Given the description of an element on the screen output the (x, y) to click on. 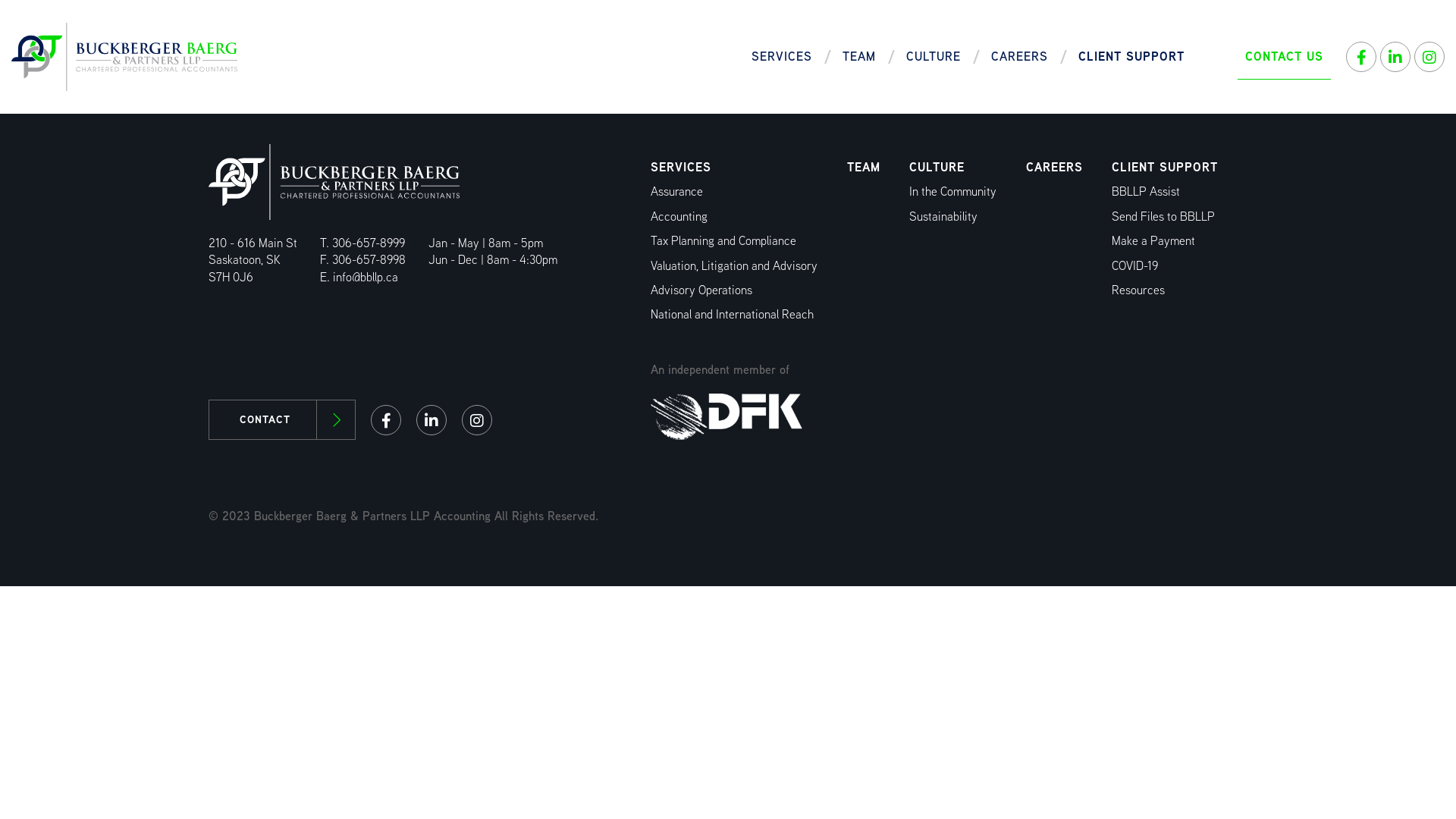
Assurance Element type: text (676, 191)
Resources Element type: text (1137, 289)
Advisory Operations Element type: text (701, 289)
COVID-19 Element type: text (1134, 265)
Accounting Element type: text (678, 216)
CULTURE Element type: text (933, 56)
CLIENT SUPPORT Element type: text (1164, 166)
TEAM Element type: text (863, 166)
Valuation, Litigation and Advisory Element type: text (733, 265)
CLIENT SUPPORT Element type: text (1131, 56)
In the Community Element type: text (952, 191)
CAREERS Element type: text (1019, 56)
SERVICES Element type: text (781, 56)
CAREERS Element type: text (1054, 166)
National and International Reach Element type: text (731, 314)
Send Files to BBLLP Element type: text (1162, 216)
Make a Payment Element type: text (1153, 240)
BBLLP Assist Element type: text (1145, 191)
TEAM Element type: text (858, 56)
Tax Planning and Compliance Element type: text (723, 240)
306-657-8999 Element type: text (368, 242)
CONTACT Element type: text (281, 419)
Sustainability Element type: text (943, 216)
306-657-8998 Element type: text (368, 259)
info@bbllp.ca Element type: text (365, 276)
CONTACT US Element type: text (1283, 56)
CULTURE Element type: text (936, 166)
SERVICES Element type: text (680, 166)
